Given the description of an element on the screen output the (x, y) to click on. 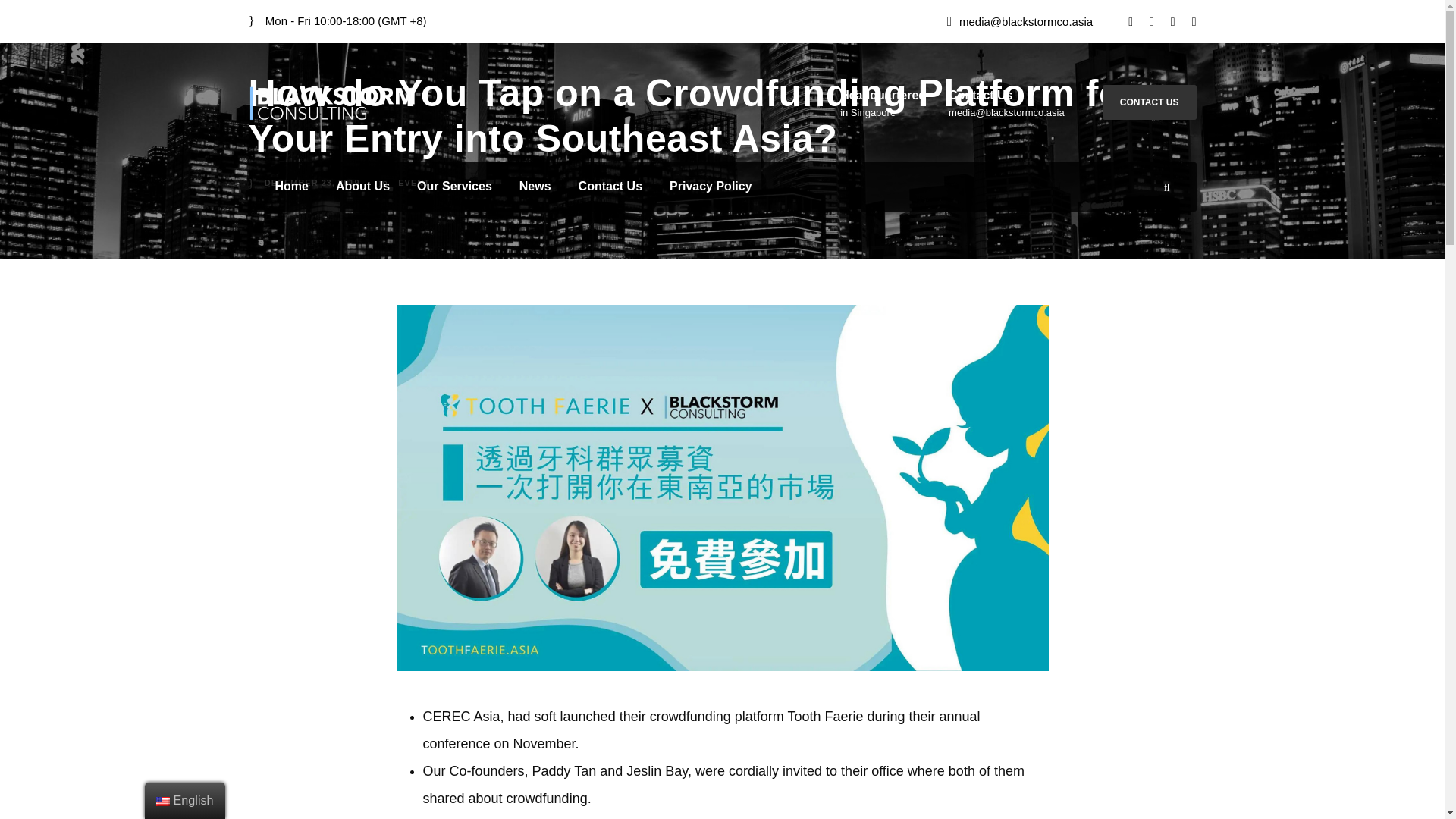
About Us (363, 193)
English (162, 800)
Our Services (454, 193)
News (535, 193)
Home (291, 193)
Privacy Policy (710, 193)
DECEMBER 23, 2019 (311, 182)
EVENT (413, 182)
Contact Us (610, 193)
CONTACT US (1149, 102)
